Given the description of an element on the screen output the (x, y) to click on. 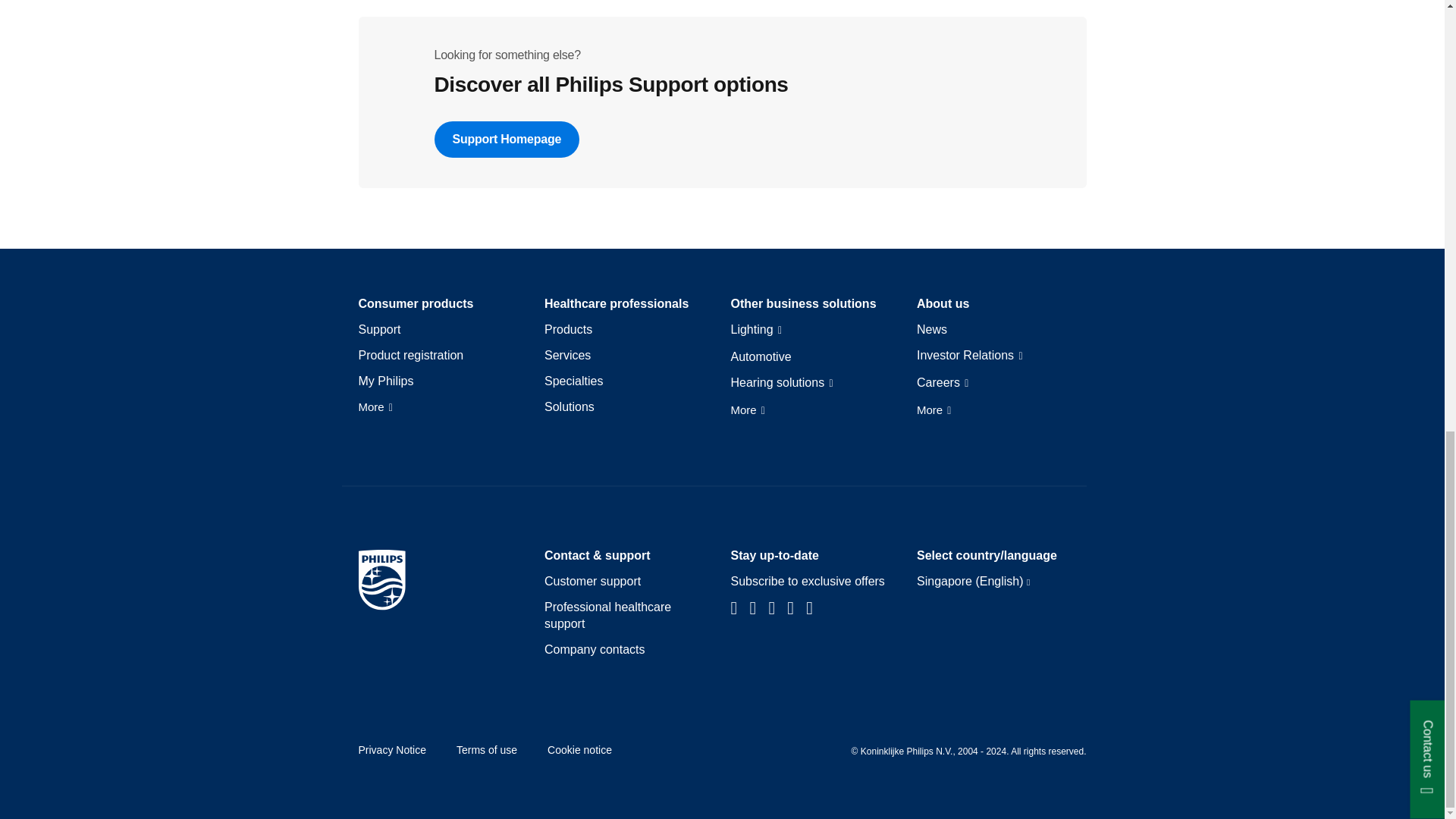
Support (379, 329)
My Philips (385, 381)
About us (943, 303)
Healthcare professionals (616, 303)
Product registration (410, 355)
Services (567, 355)
Specialties (573, 381)
Automotive (761, 356)
Consumer products (415, 303)
Solutions (569, 406)
Products (568, 329)
